Given the description of an element on the screen output the (x, y) to click on. 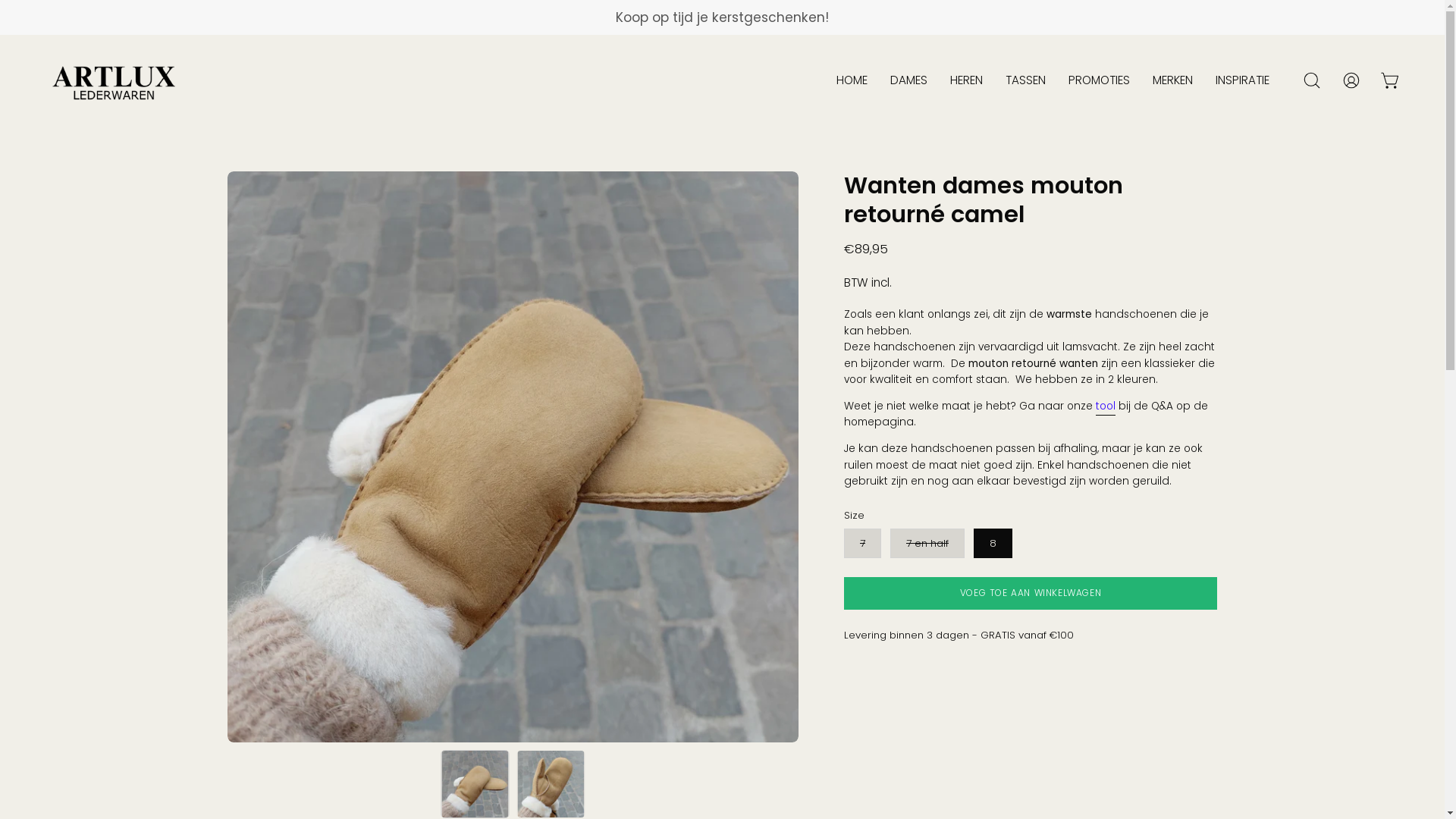
HOME Element type: text (851, 79)
PROMOTIES Element type: text (1099, 79)
Mijn account Element type: text (1351, 80)
Open afbeelding Element type: text (1083, 456)
HEREN Element type: text (966, 79)
VOEG TOE AAN WINKELWAGEN Element type: text (1030, 593)
Open afbeelding Element type: text (512, 456)
Open de winkelwagen Element type: text (1390, 80)
DAMES Element type: text (908, 79)
MERKEN Element type: text (1172, 79)
TASSEN Element type: text (1025, 79)
INSPIRATIE Element type: text (1242, 79)
tool Element type: text (1105, 406)
